Given the description of an element on the screen output the (x, y) to click on. 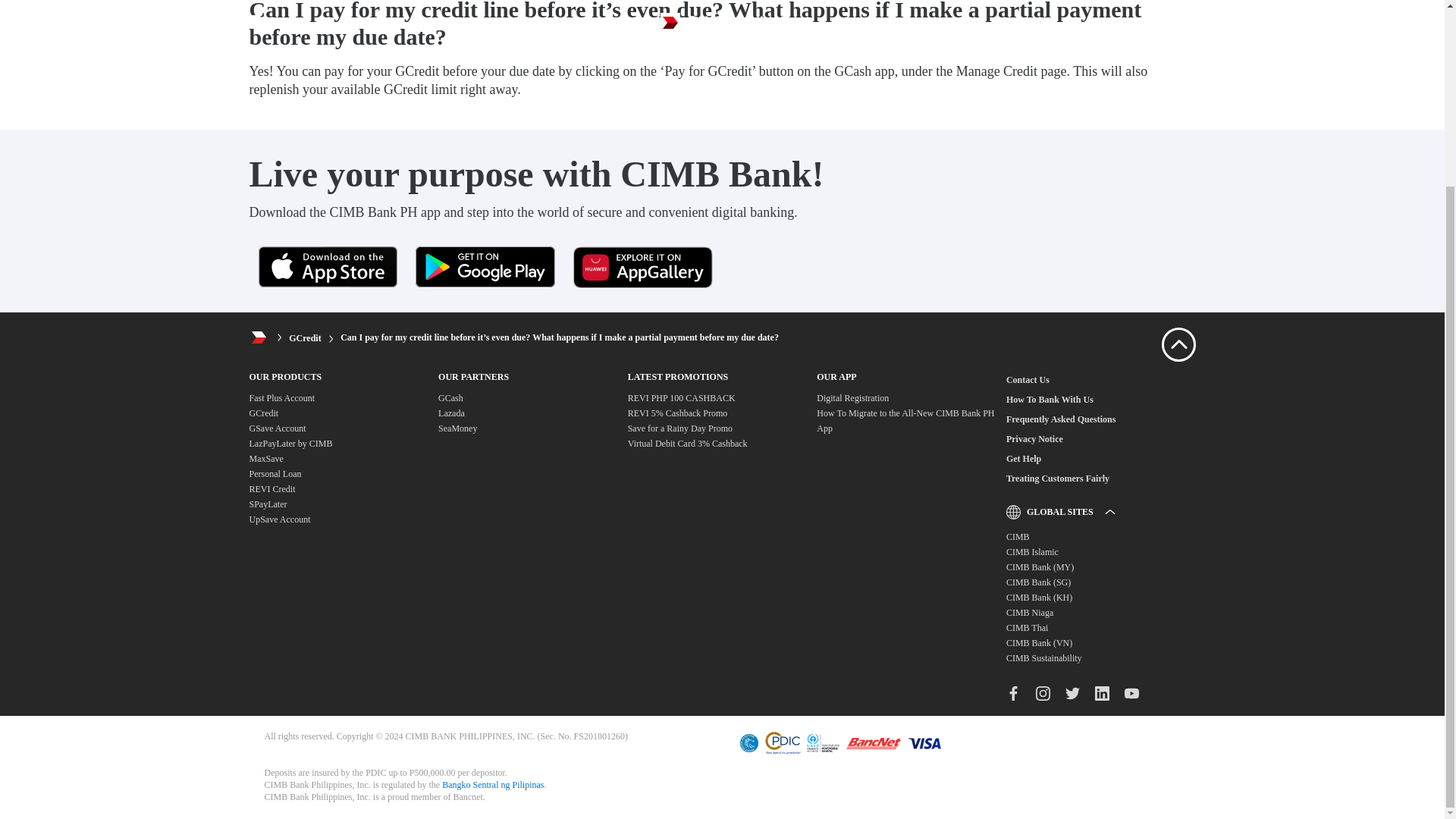
LazPayLater by CIMB (289, 443)
UpSave Account (279, 519)
GCredit (263, 412)
GCredit (304, 337)
REVI Credit (271, 489)
MaxSave (265, 458)
Personal Loan (274, 473)
GSave Account (276, 428)
SPayLater (267, 503)
Fast Plus Account (281, 398)
